Given the description of an element on the screen output the (x, y) to click on. 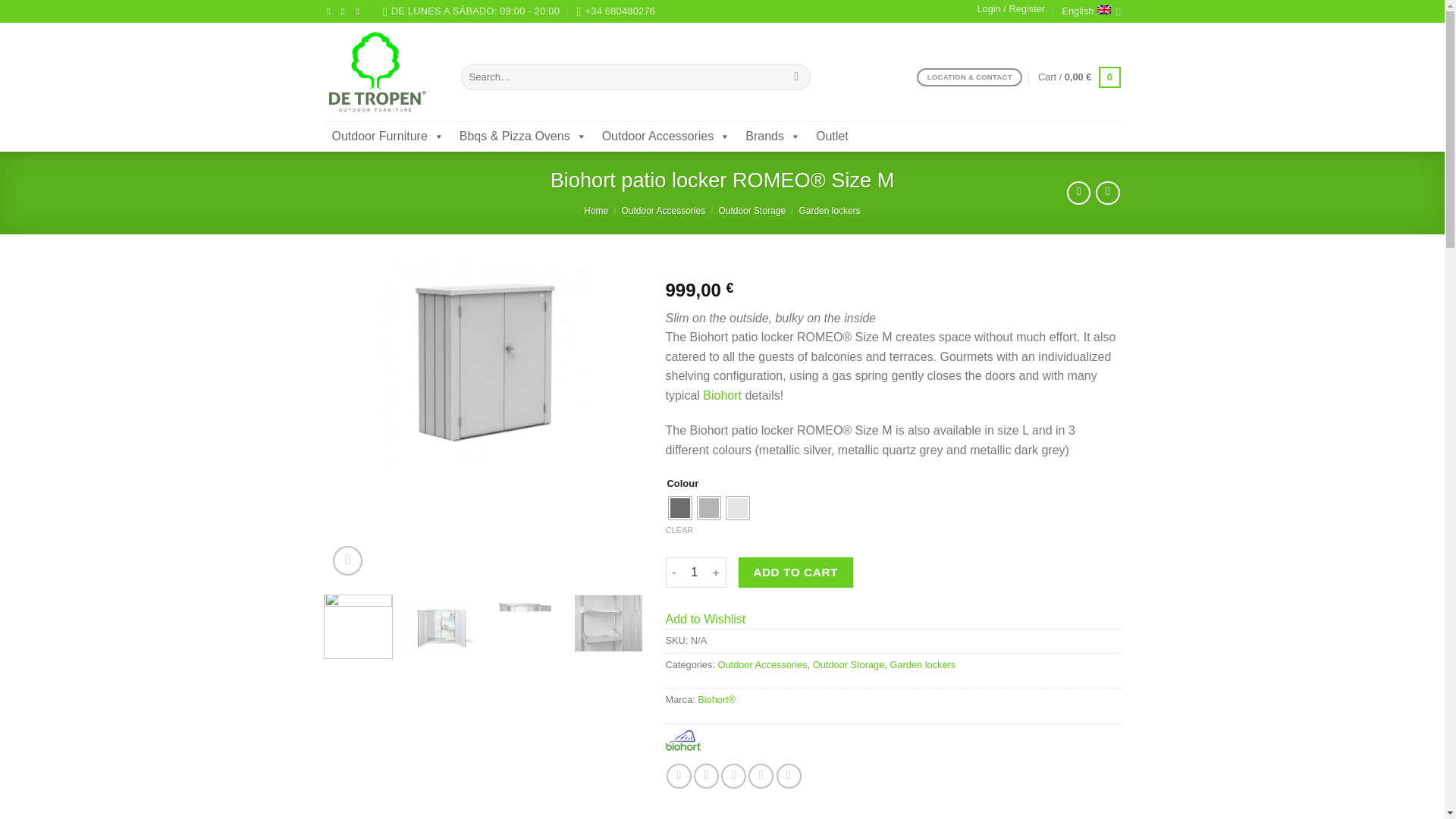
Search (796, 77)
English (1090, 11)
Outdoor Furniture (387, 136)
Login (1010, 8)
De Tropen - High quality furniture (381, 71)
Cart (1079, 77)
